Given the description of an element on the screen output the (x, y) to click on. 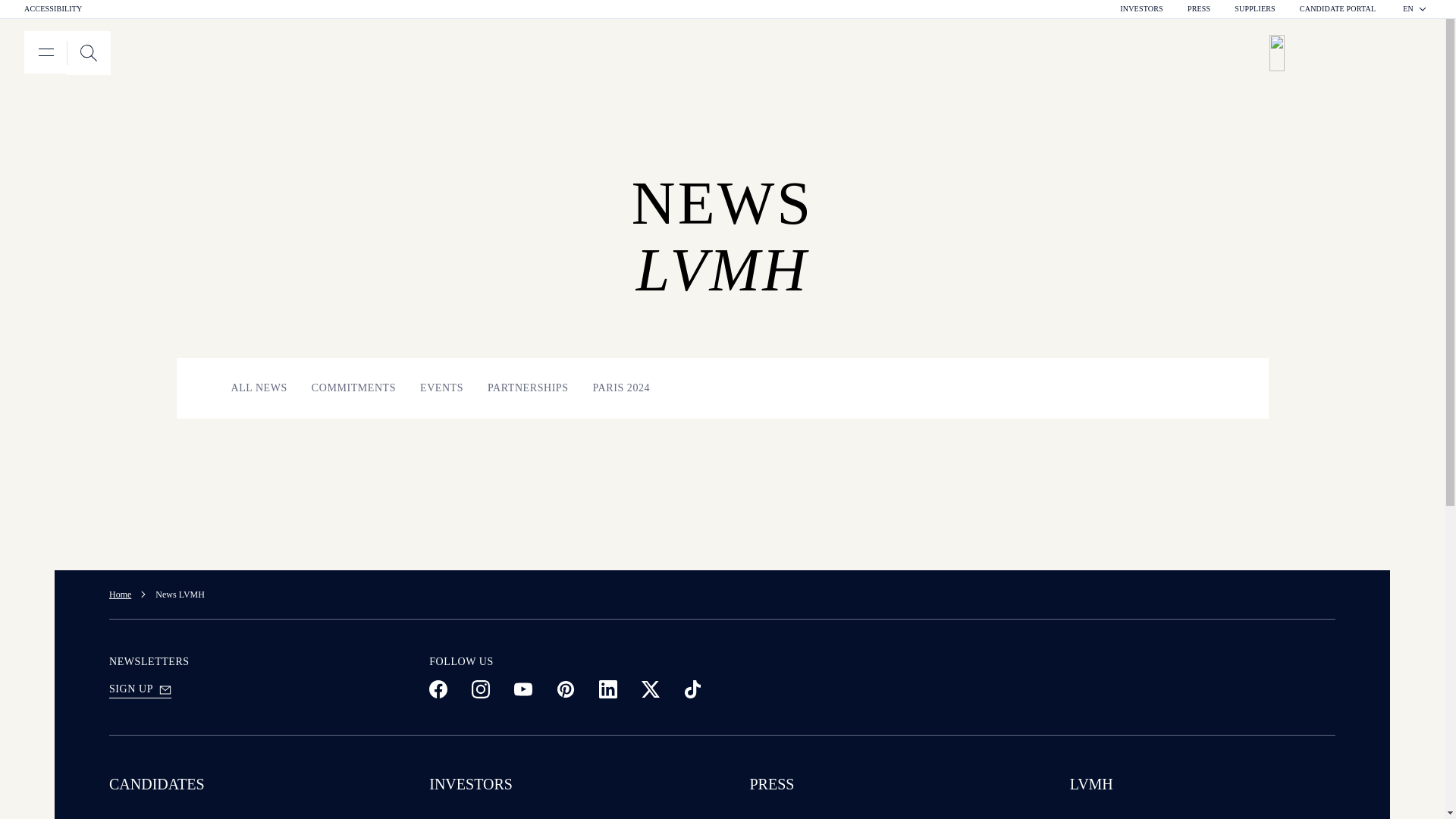
SEARCH (88, 53)
INVESTORS (1141, 9)
PRESS (1198, 9)
SEARCH (67, 53)
LVMH Homepage (1350, 53)
SEARCH (88, 53)
SUPPLIERS (1415, 9)
ACCESSIBILITY (1254, 9)
SEARCH (53, 9)
CANDIDATE PORTAL (88, 53)
